Given the description of an element on the screen output the (x, y) to click on. 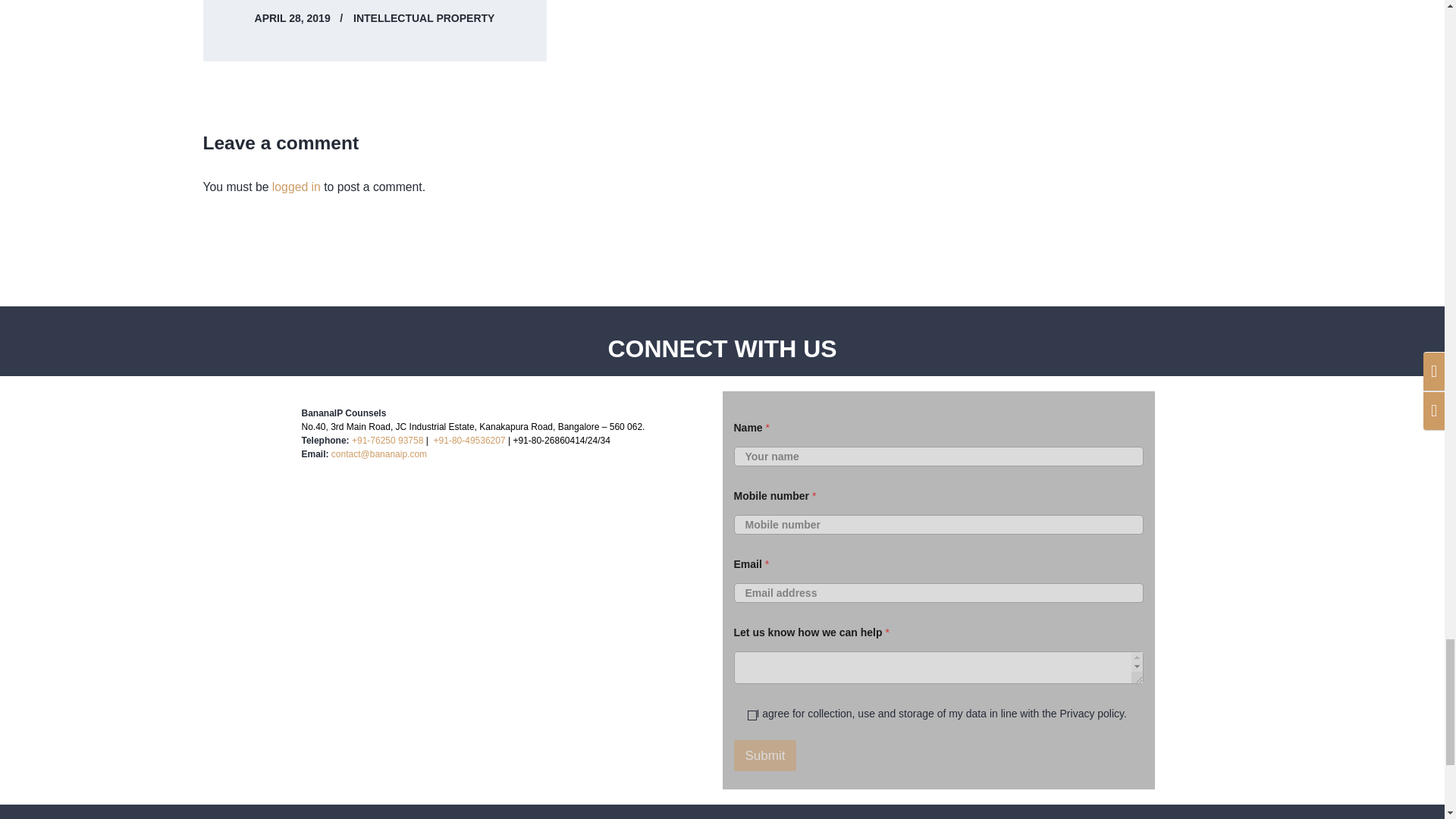
BananaIP Counsels (506, 628)
